Given the description of an element on the screen output the (x, y) to click on. 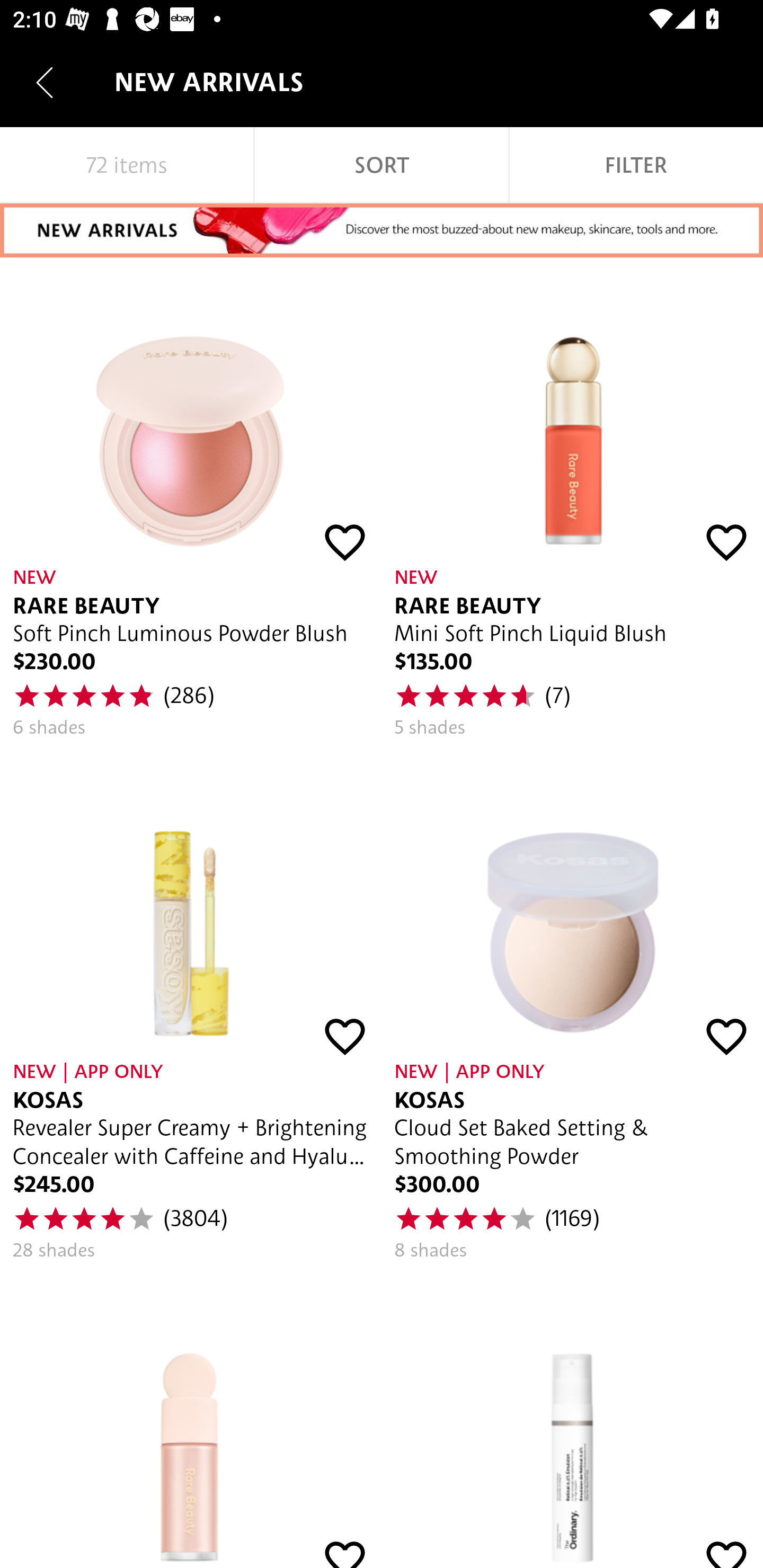
Navigate up (44, 82)
SORT (381, 165)
FILTER (636, 165)
